Given the description of an element on the screen output the (x, y) to click on. 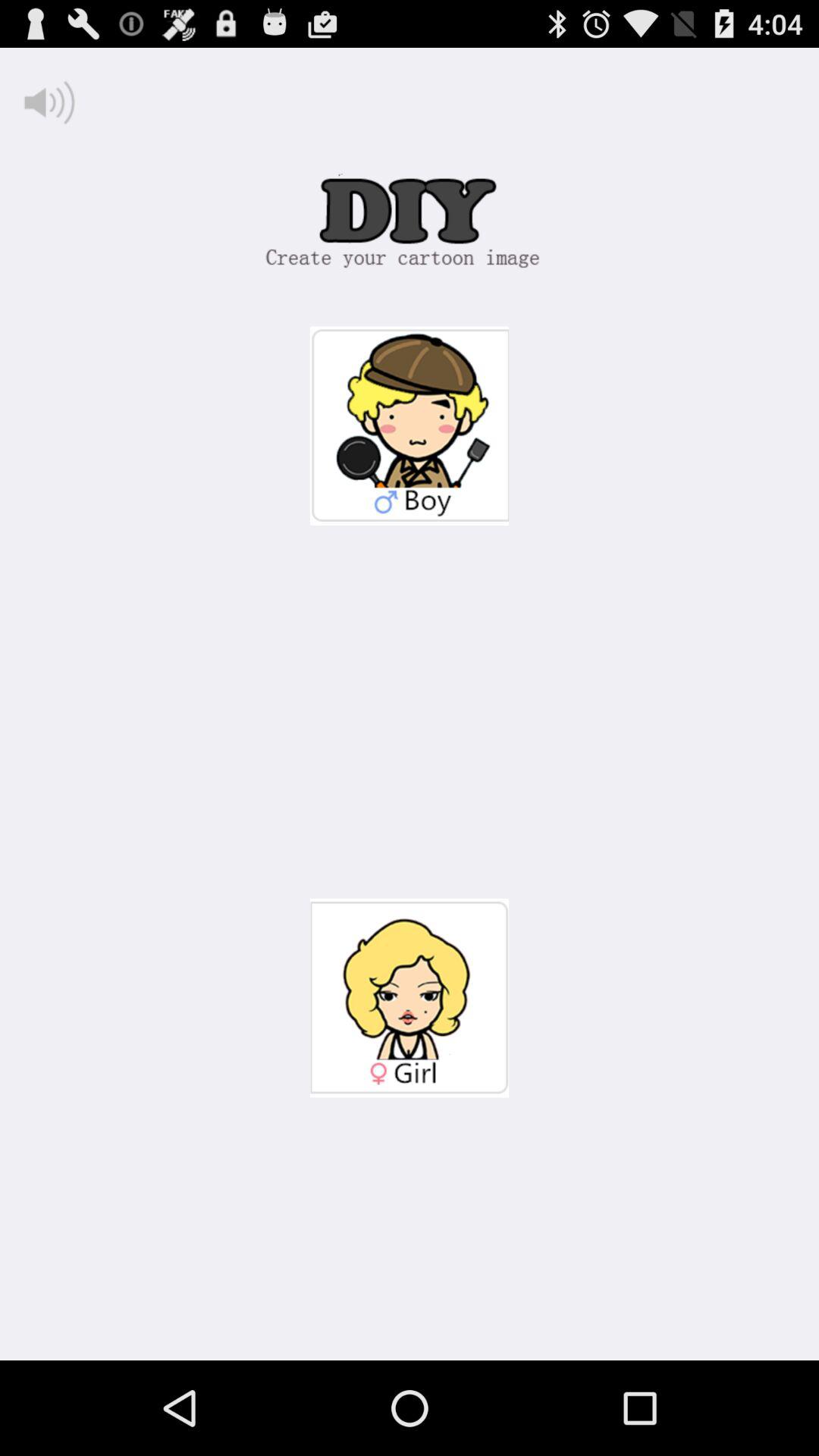
female (409, 997)
